Given the description of an element on the screen output the (x, y) to click on. 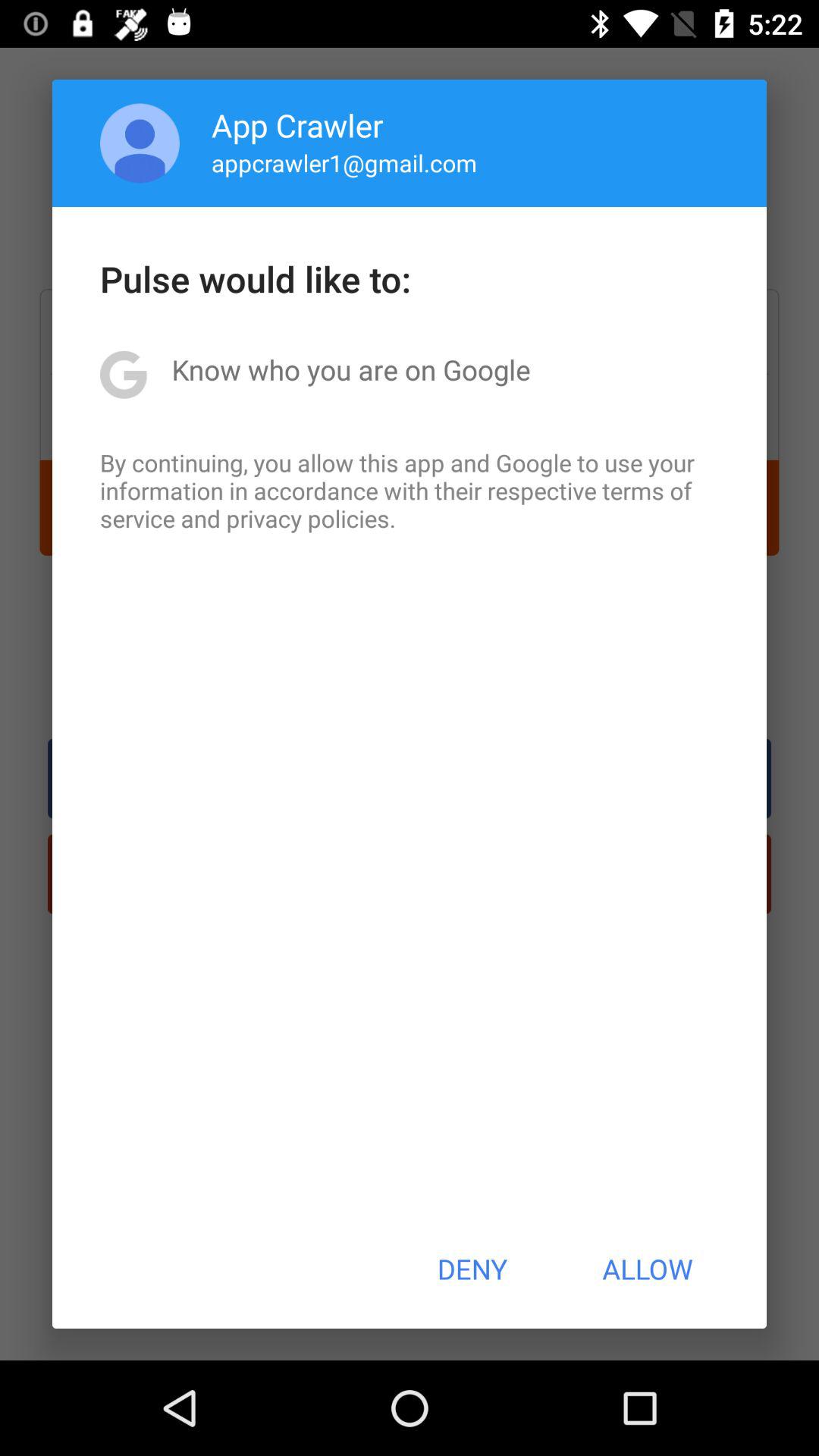
choose icon above the pulse would like (344, 162)
